Given the description of an element on the screen output the (x, y) to click on. 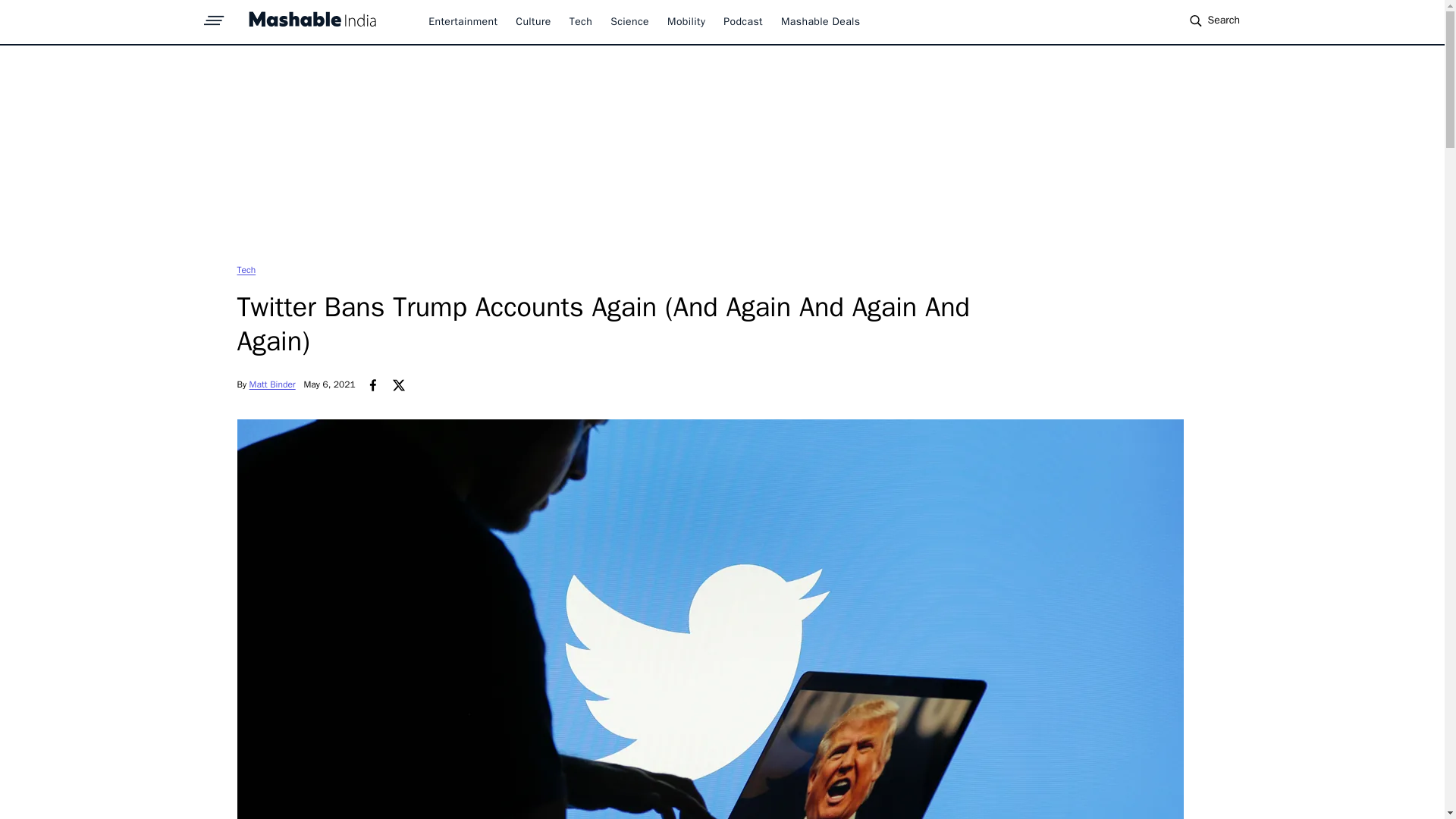
Tech (245, 269)
Mobility (685, 21)
Matt Binder (271, 384)
Tech (580, 21)
Tech (245, 269)
sprite-hamburger (213, 16)
Science (629, 21)
Mashable Deals (820, 21)
Entertainment (462, 21)
Podcast (742, 21)
Culture (532, 21)
